Given the description of an element on the screen output the (x, y) to click on. 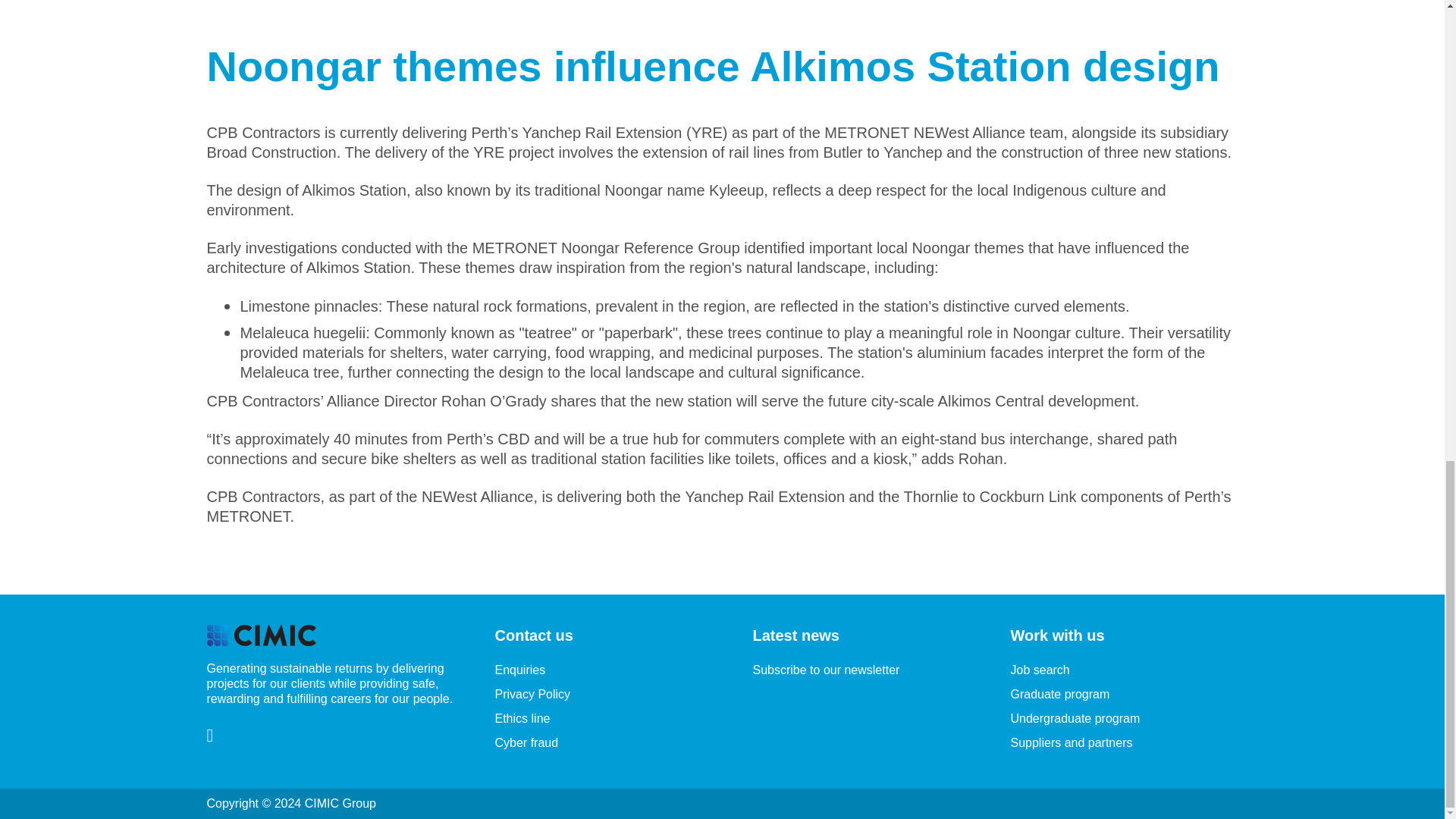
Undergraduate program (1075, 717)
Ethics line (522, 717)
Privacy Policy (532, 694)
Suppliers and partners (1071, 742)
Job search (1039, 669)
Subscribe to our newsletter (825, 669)
Cyber fraud (526, 742)
Graduate program (1059, 694)
Enquiries (519, 669)
